Given the description of an element on the screen output the (x, y) to click on. 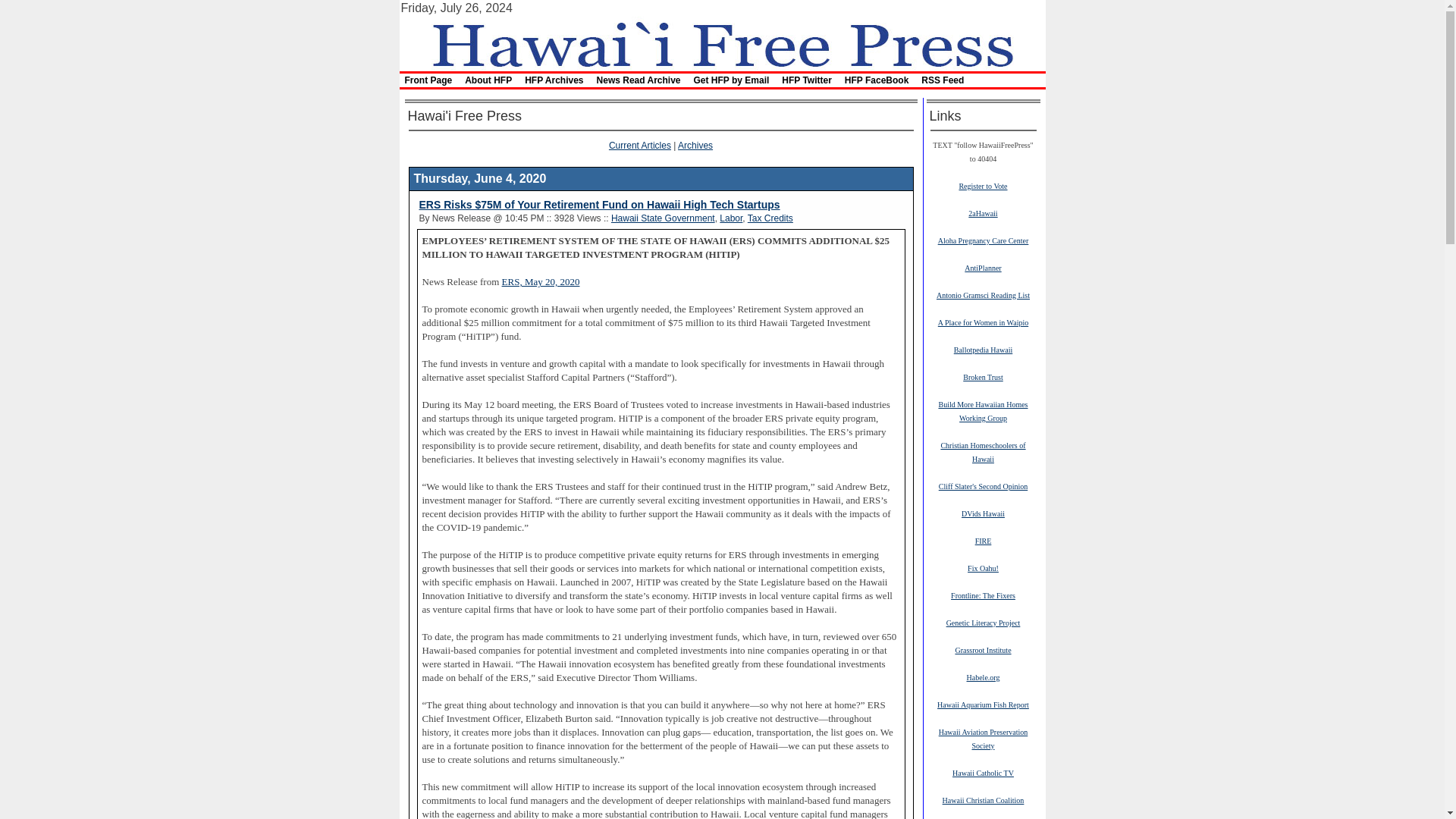
Fix Oahu! (983, 567)
ERS, May 20, 2020 (540, 281)
Aloha Pregnancy Care Center (983, 240)
Habele.org (983, 676)
Hawaii Free Press (721, 42)
A Place for Women in Waipio (982, 321)
Current Articles (639, 145)
Hawaii Aquarium Fish Report (983, 704)
FIRE (983, 540)
Antonio Gramsci Reading List (982, 294)
2aHawaii (982, 213)
Tax Credits (770, 217)
Broken Trust (982, 376)
Hawaii Aviation Preservation Society (983, 738)
Hawaii Catholic TV (982, 772)
